Given the description of an element on the screen output the (x, y) to click on. 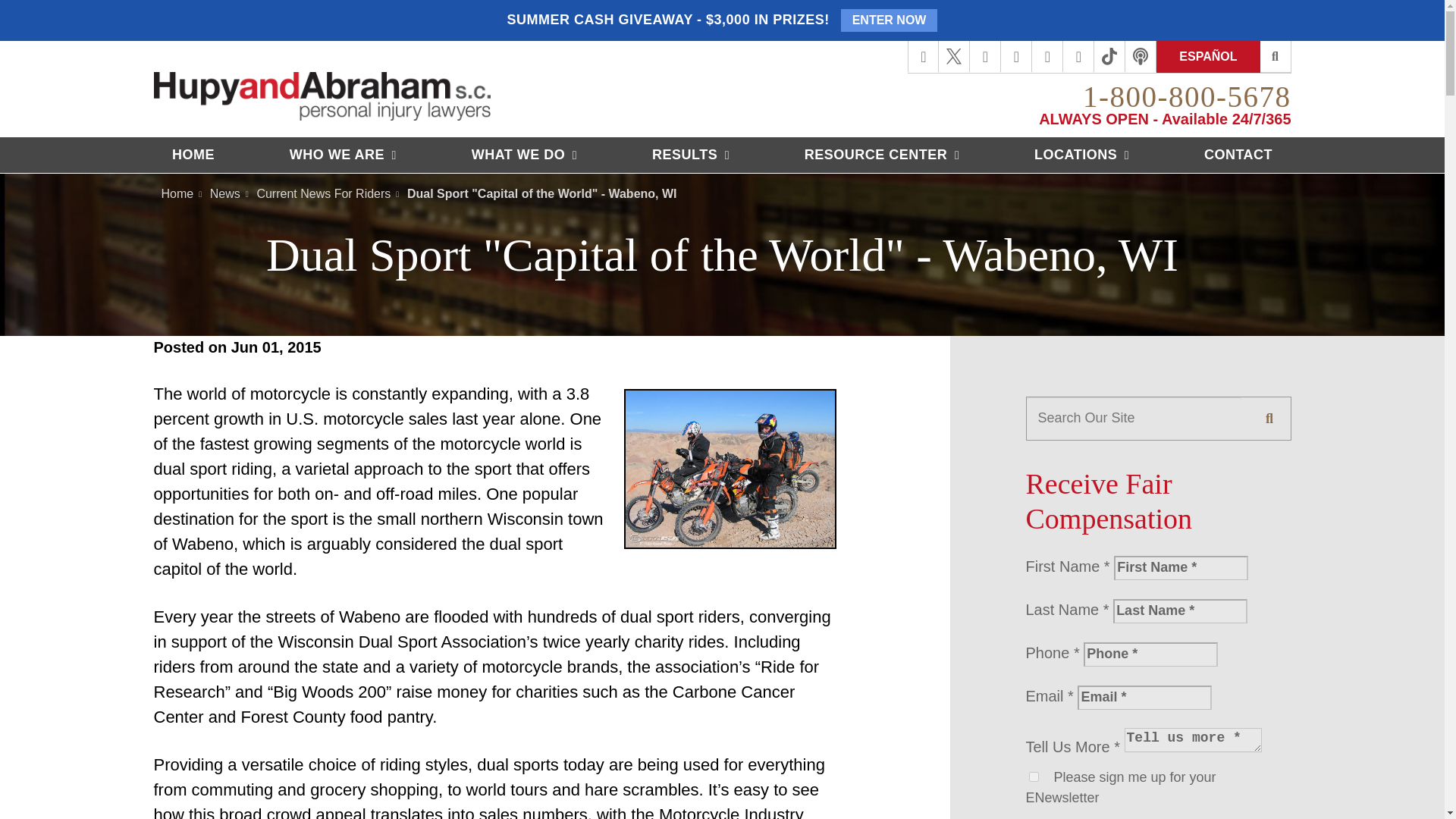
Search (1269, 418)
ENTER NOW (889, 20)
Search (1275, 56)
HOME (193, 154)
Please sign me up for your ENewsletter (1032, 777)
1-800-800-5678 (1186, 96)
WHAT WE DO (523, 154)
WHO WE ARE (342, 154)
